Given the description of an element on the screen output the (x, y) to click on. 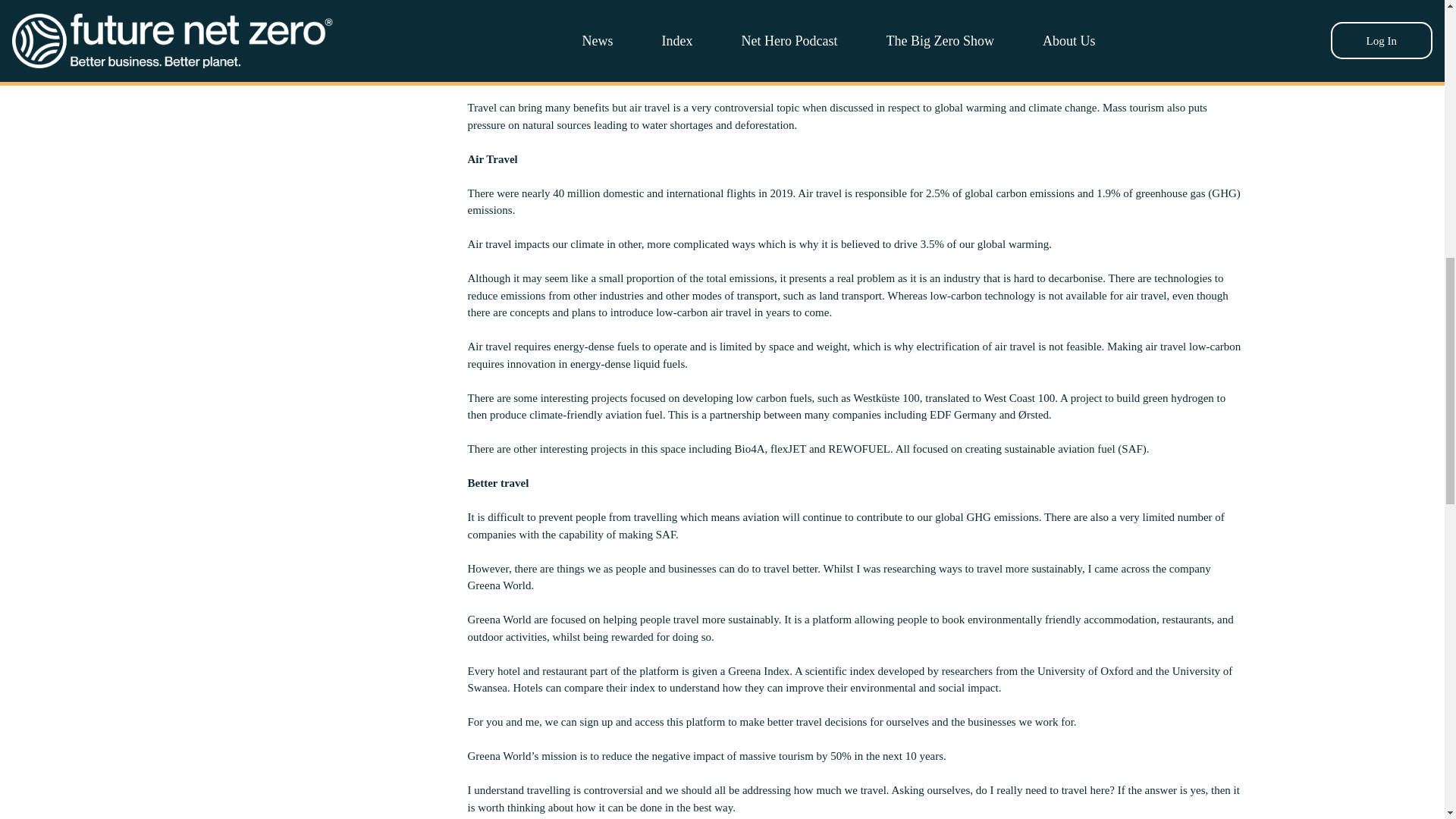
Greena World. (500, 585)
